Given the description of an element on the screen output the (x, y) to click on. 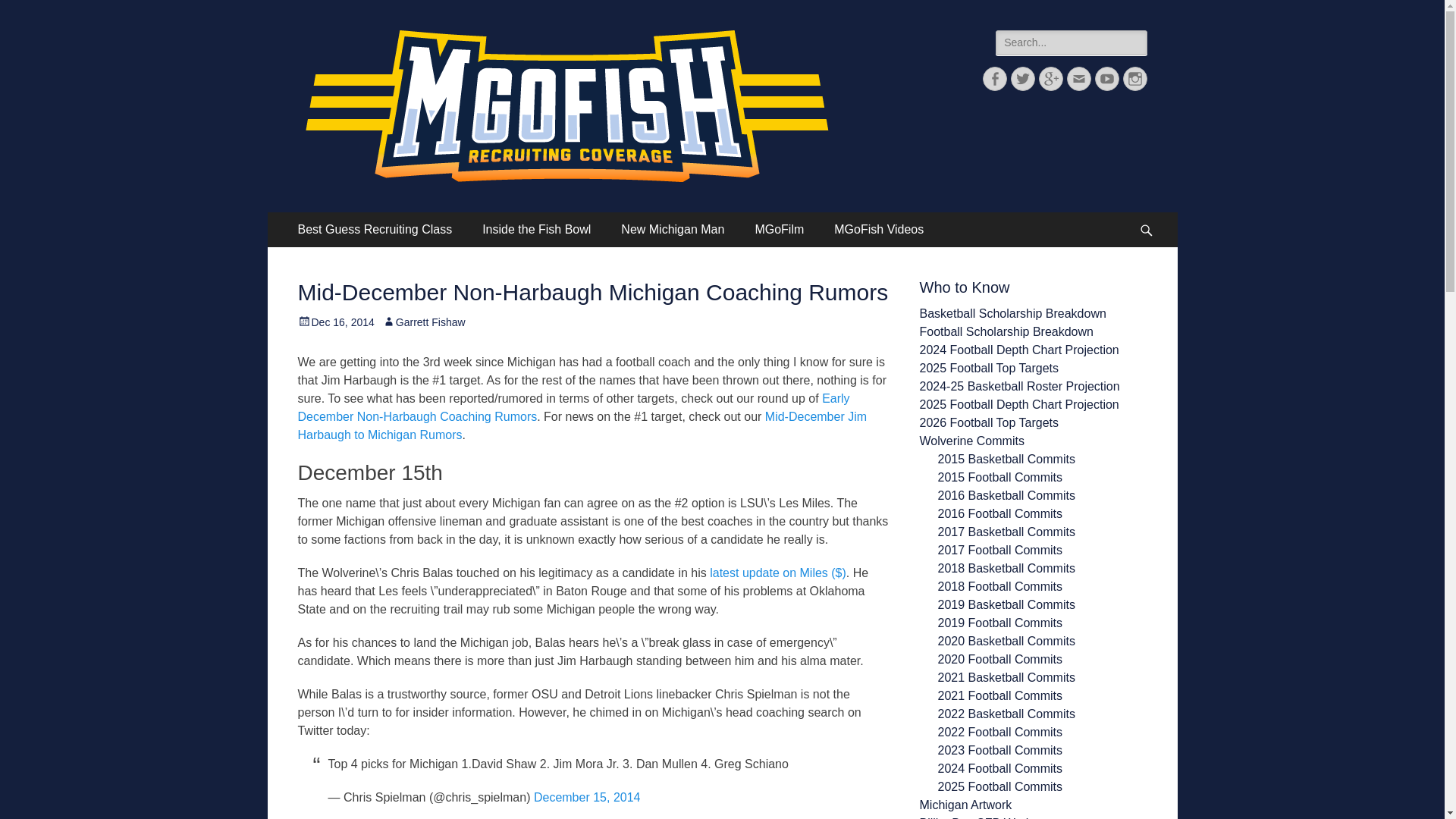
MGoFilm (778, 229)
Best Guess Recruiting Class (374, 229)
Instagram (1134, 78)
Mid-December Jim Harbaugh to Michigan Rumors (581, 425)
Googleplus (1050, 78)
Search for: (1071, 42)
Garrett Fishaw (423, 322)
Email (1077, 78)
New Michigan Man (672, 229)
MGoFish (358, 48)
